Given the description of an element on the screen output the (x, y) to click on. 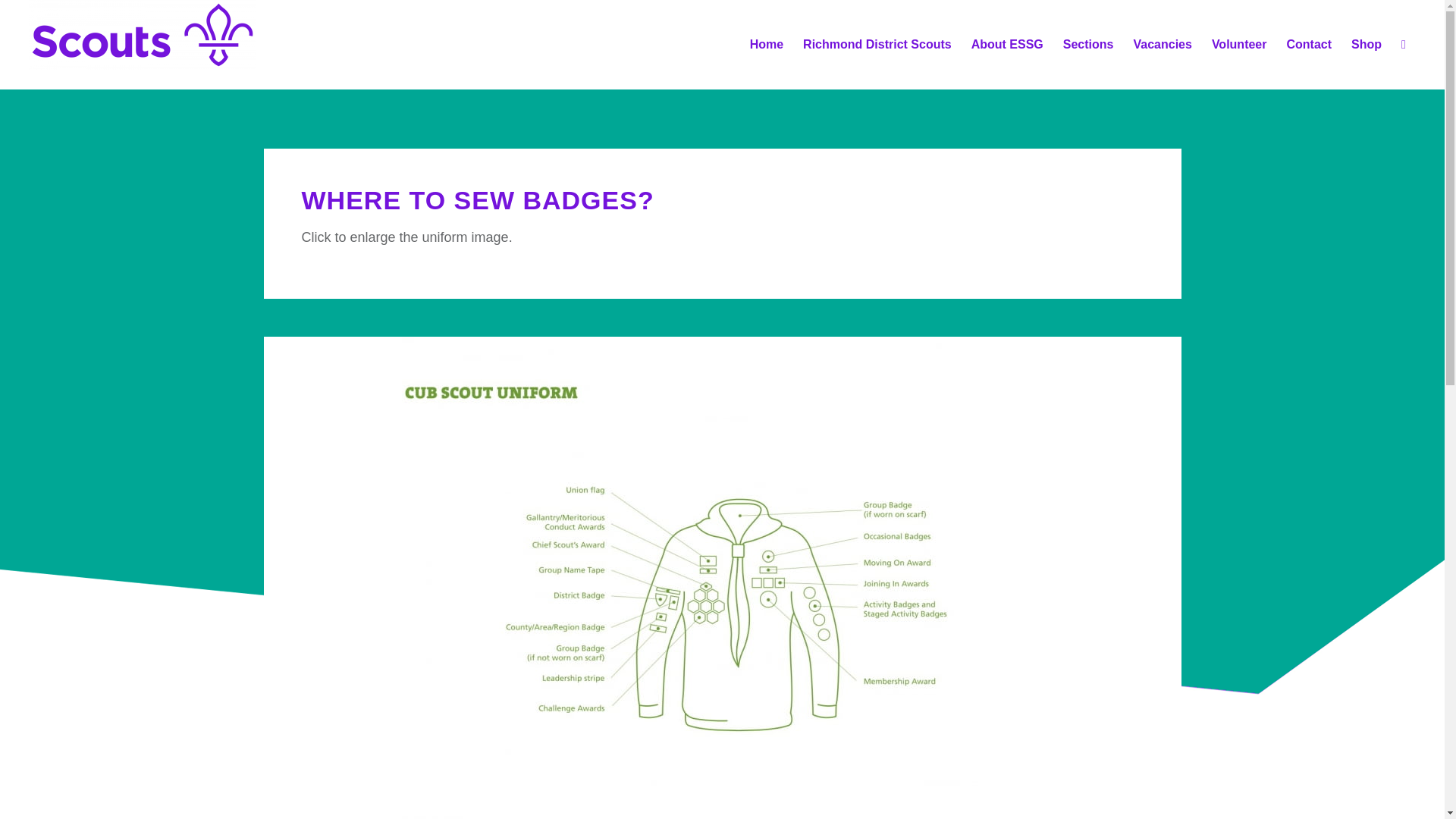
Home (766, 44)
Richmond District Scouts (876, 44)
Volunteer (1239, 44)
Contact (1308, 44)
Vacancies (1161, 44)
About ESSG (1006, 44)
Sections (1088, 44)
Shop (1365, 44)
